Given the description of an element on the screen output the (x, y) to click on. 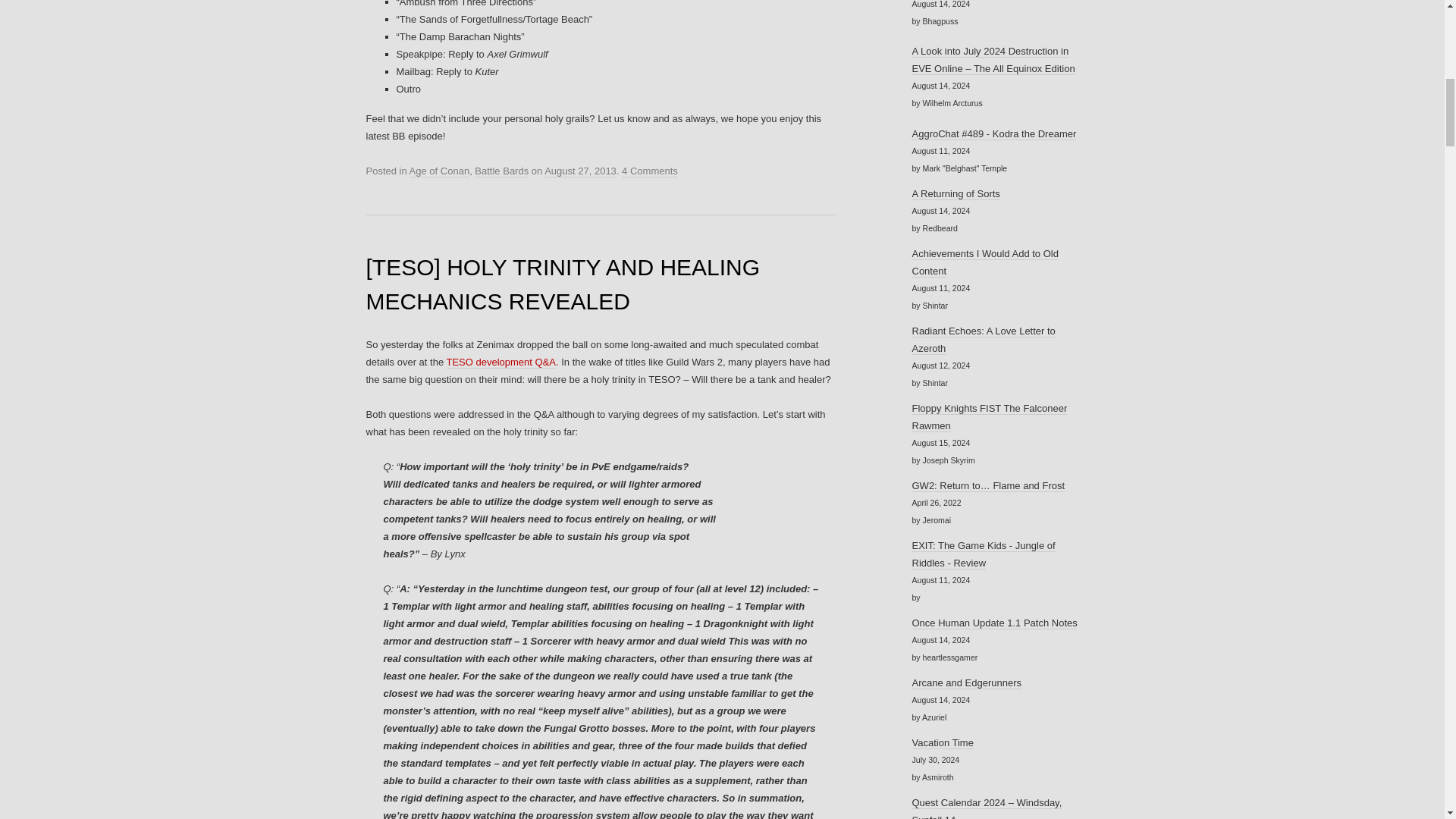
Battle Bards (501, 171)
4 Comments (649, 171)
17:42 (579, 171)
August 27, 2013 (579, 171)
Age of Conan (439, 171)
